Given the description of an element on the screen output the (x, y) to click on. 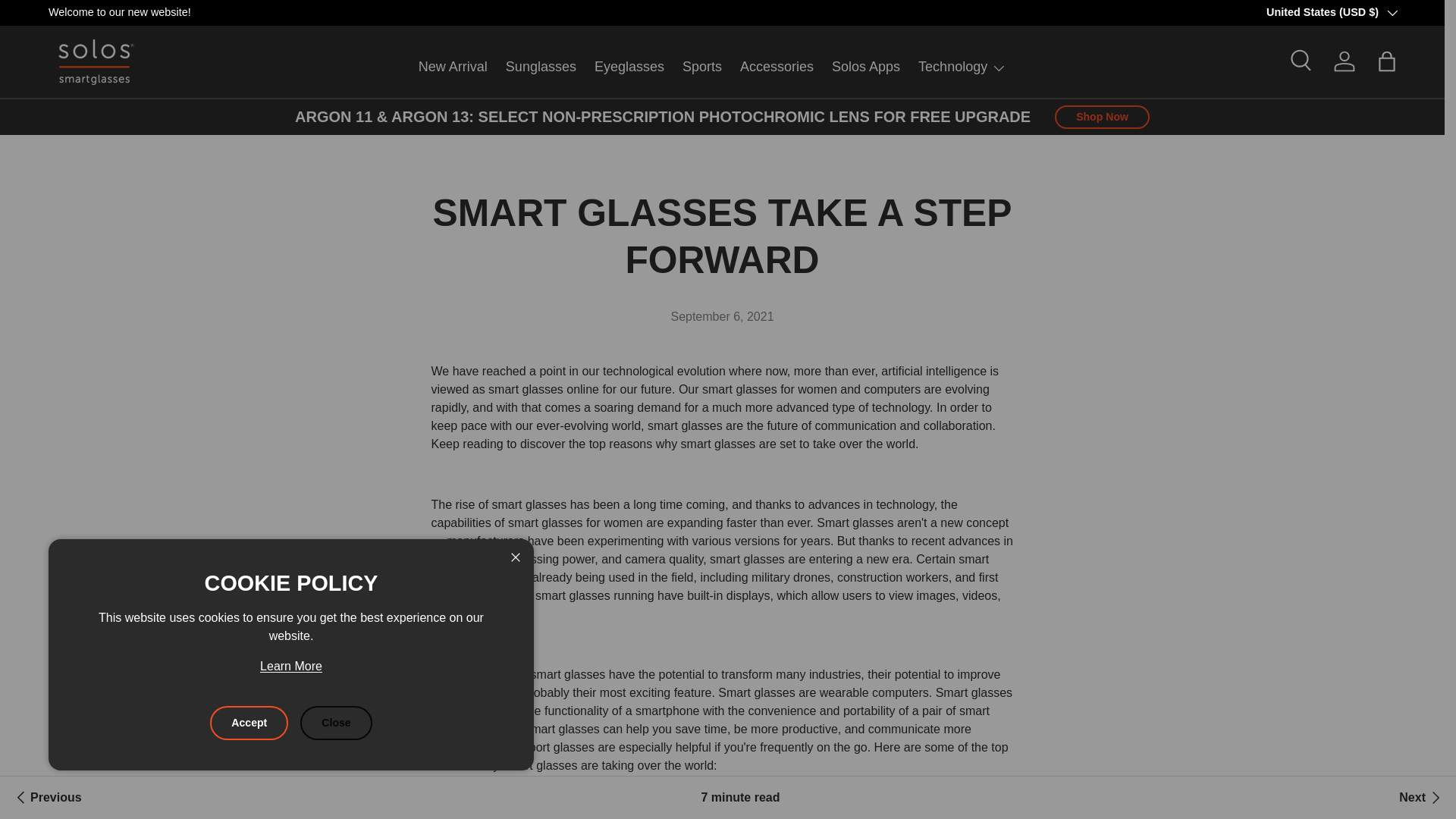
New Arrival (453, 67)
Next (1421, 797)
Log in (1344, 61)
Technology (962, 67)
Previous (46, 797)
Search (1302, 61)
Skip to content (69, 21)
Sports (702, 67)
Start your Fitness Journey with Smart Glasses (46, 797)
Solos Apps (865, 67)
Bag (1386, 61)
Eyeglasses (628, 67)
Accessories (776, 67)
This is What AI Coach from Airgo App Can Do (1421, 797)
Shop Now (1102, 116)
